Given the description of an element on the screen output the (x, y) to click on. 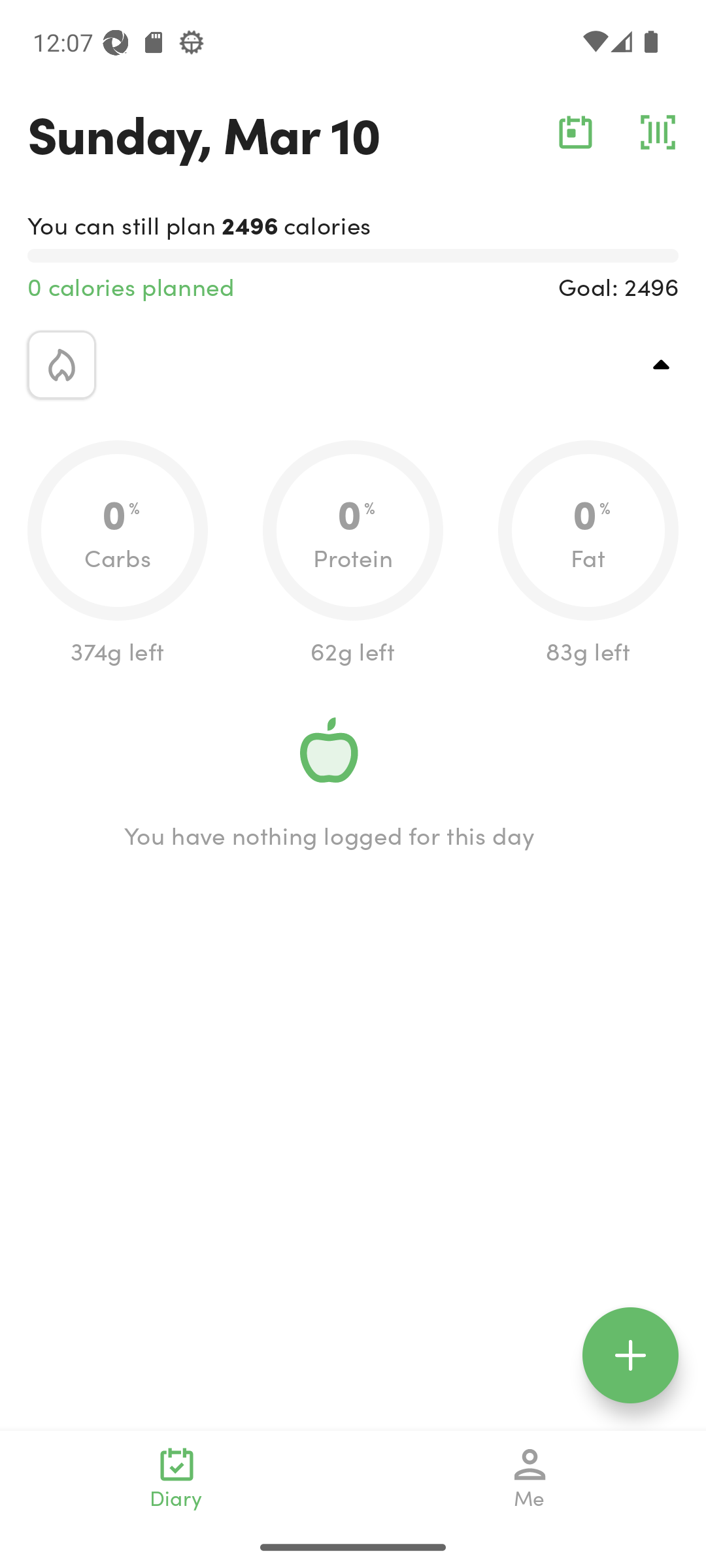
calendar_action (575, 132)
barcode_action (658, 132)
calorie_icon (62, 365)
top_right_action (661, 365)
0.0 0 % Carbs 374g left (117, 553)
0.0 0 % Protein 62g left (352, 553)
0.0 0 % Fat 83g left (588, 553)
floating_action_icon (630, 1355)
Me navigation_icon (529, 1478)
